Given the description of an element on the screen output the (x, y) to click on. 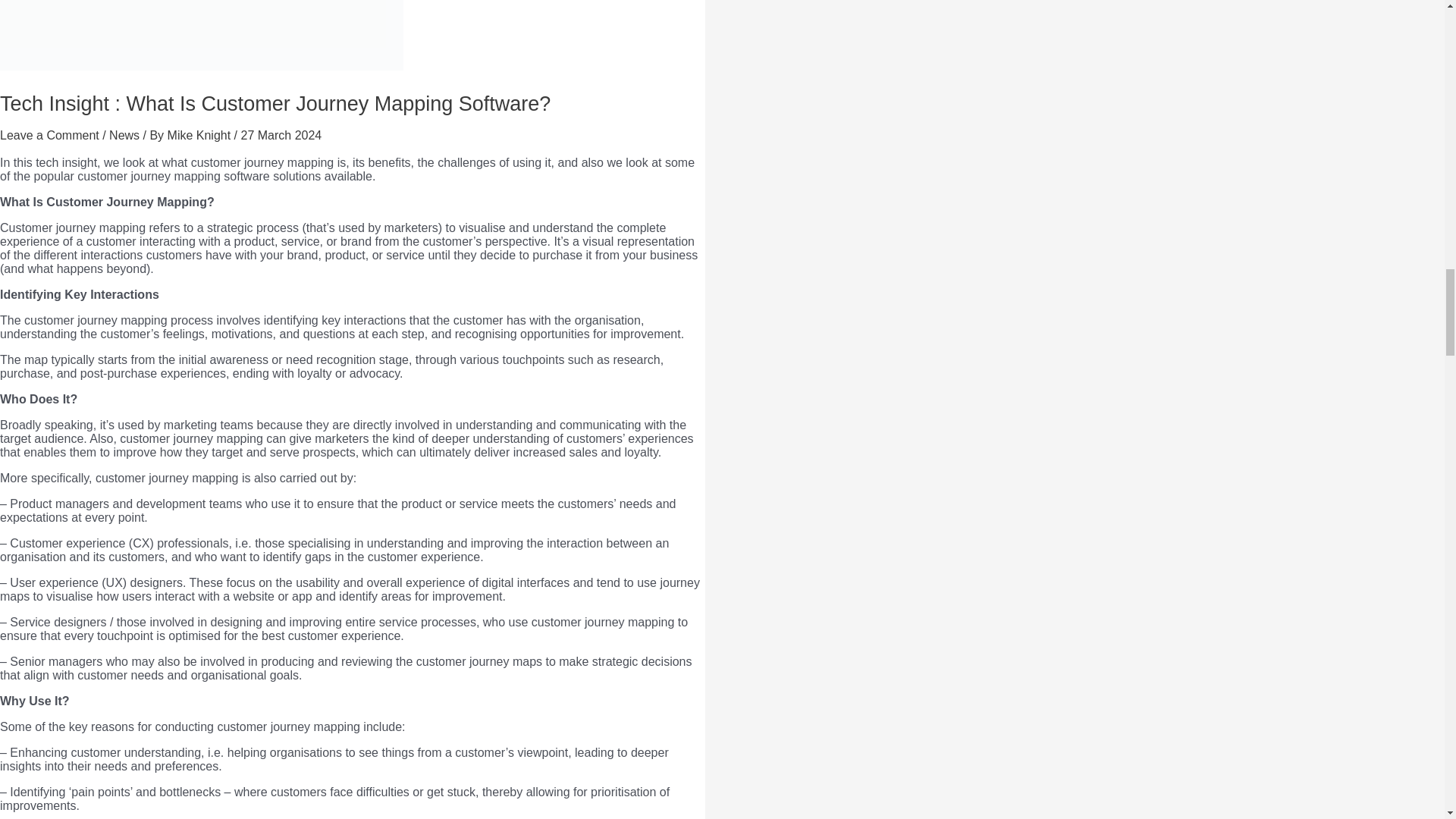
View all posts by Mike Knight (200, 134)
